Given the description of an element on the screen output the (x, y) to click on. 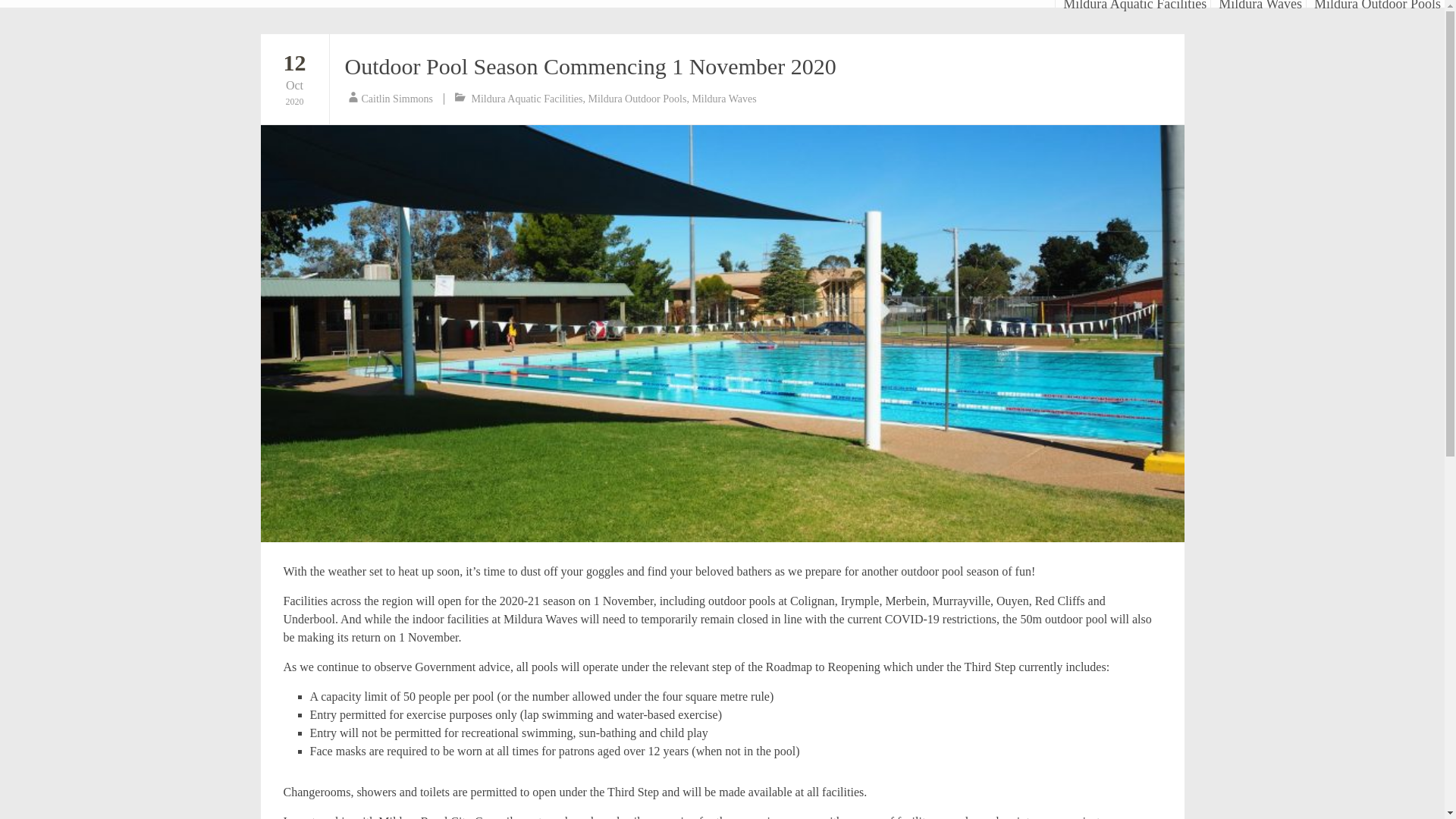
Skip to content (1058, 3)
Mildura Outdoor Pools (637, 98)
Mildura Aquatic Facilities (1134, 3)
Caitlin Simmons (294, 78)
Mildura Waves (396, 98)
Outdoor Pool Season Commencing 1 November 2020 (723, 98)
Outdoor Pool Season Commencing 1 November 2020 (527, 98)
Mildura Waves (589, 66)
